Given the description of an element on the screen output the (x, y) to click on. 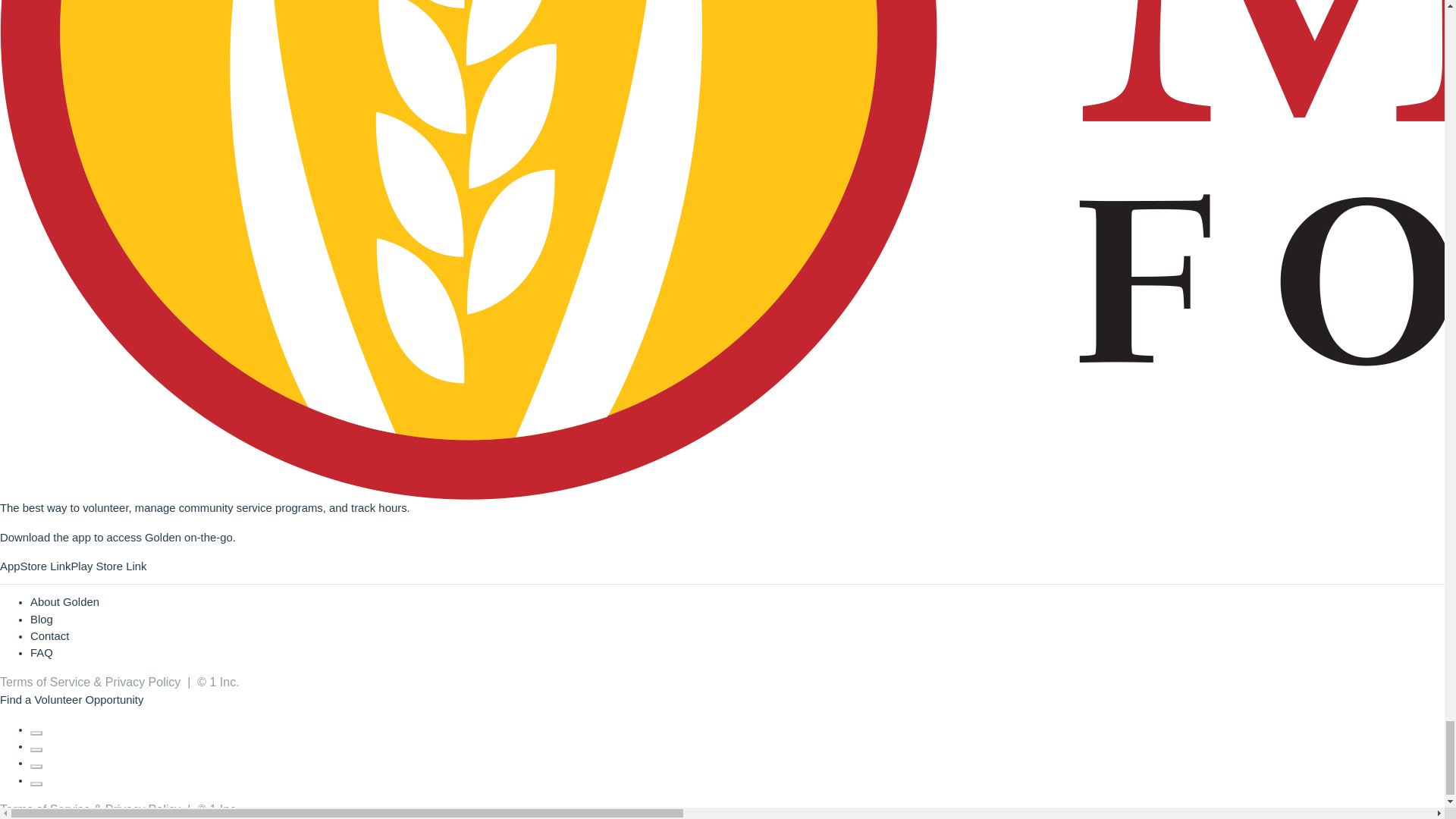
Privacy Policy (142, 681)
Blog (41, 619)
FAQ (41, 653)
About Golden (64, 602)
About Golden (64, 602)
Volunteer Opportunity (87, 699)
Contact (49, 635)
Visit Us On Facebook (36, 729)
Terms of Service (45, 809)
Visit Us On Twitter (36, 746)
Volunteer Opportunity (87, 699)
Contact (49, 635)
Terms of Service (45, 681)
Visit Us On YouTube (36, 779)
Privacy Policy (142, 809)
